Given the description of an element on the screen output the (x, y) to click on. 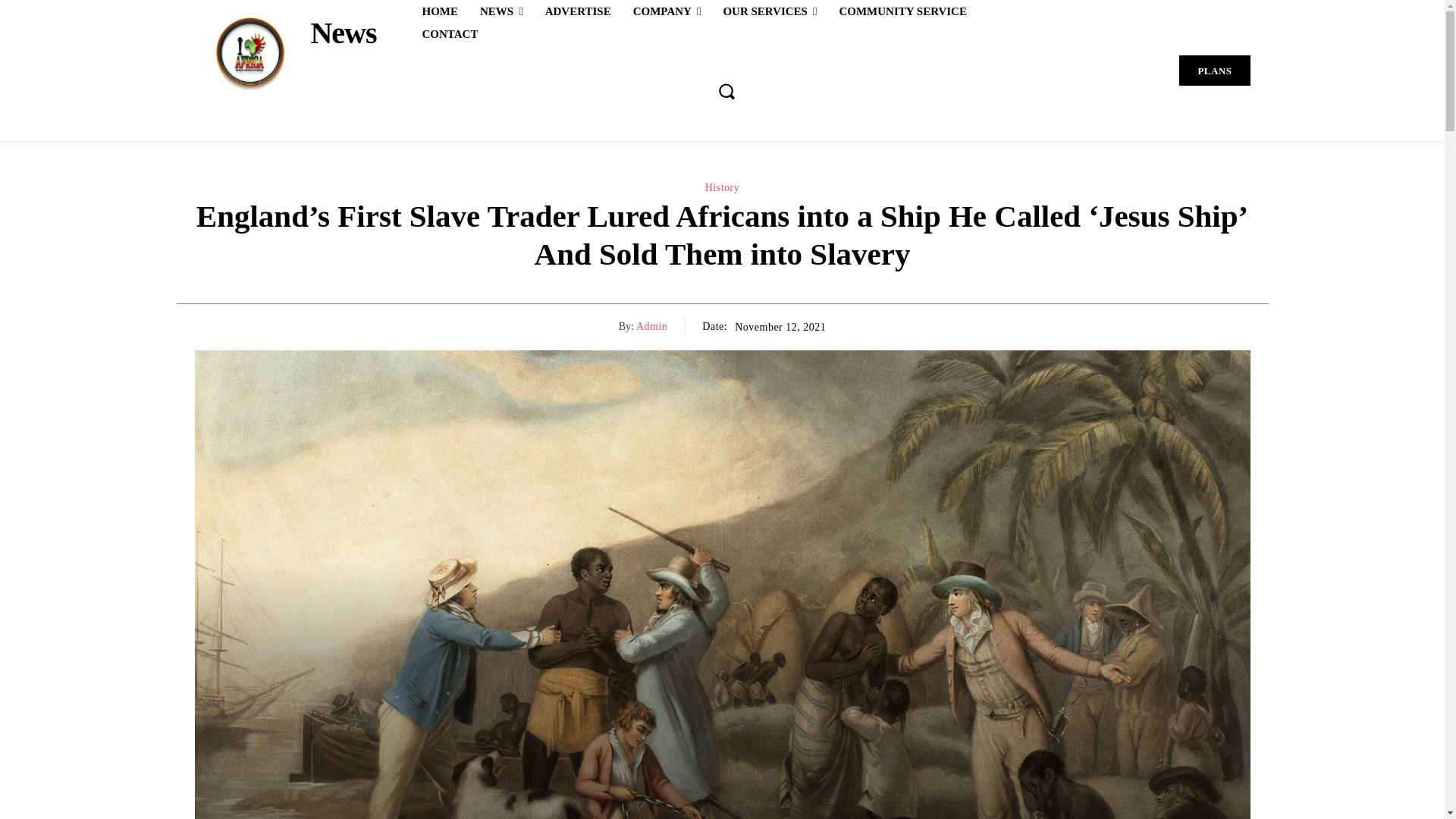
Plans (1214, 70)
HOME (439, 11)
News (284, 51)
NEWS (501, 11)
